Given the description of an element on the screen output the (x, y) to click on. 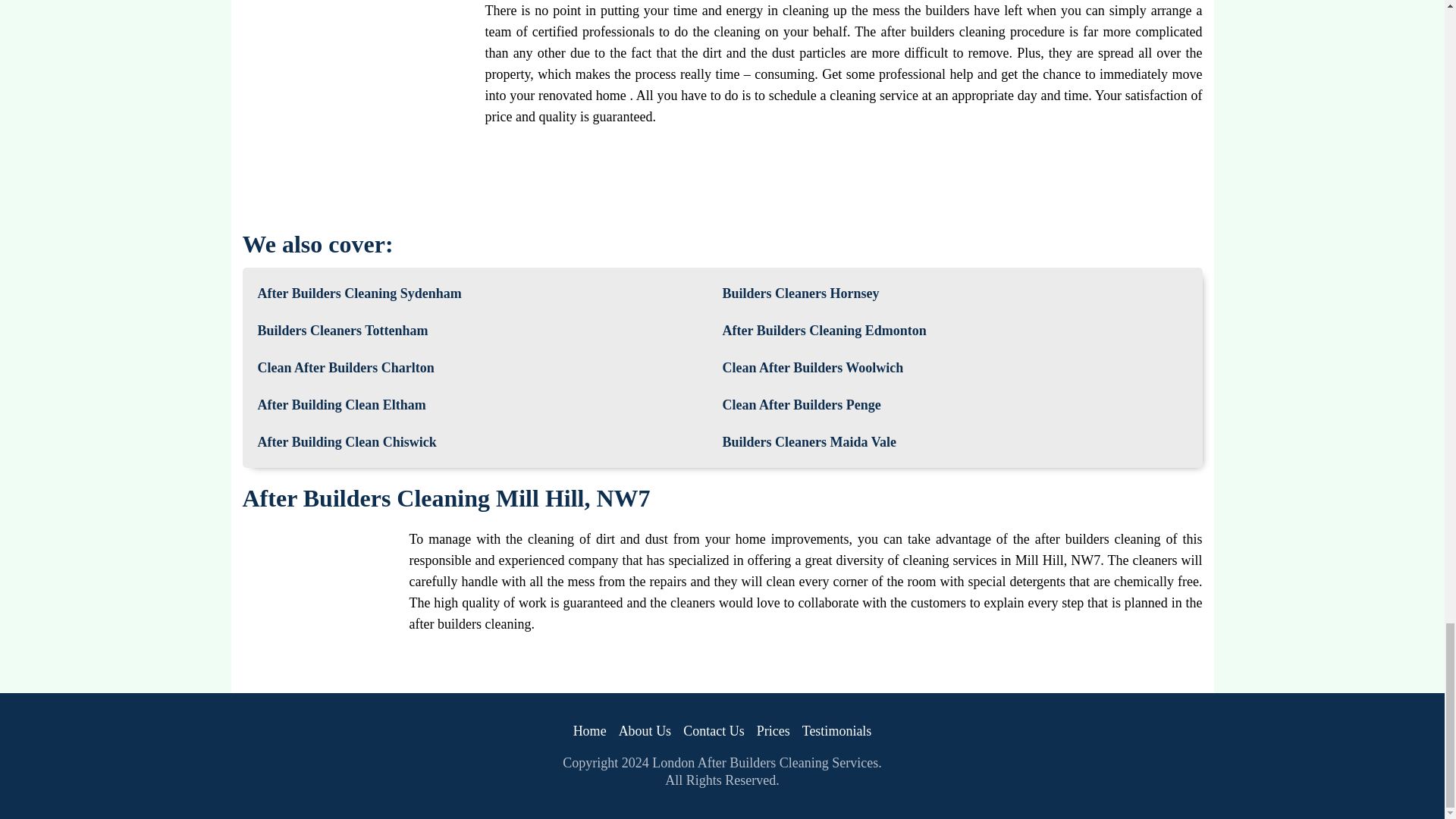
After Builders Cleaning Edmonton (824, 331)
W9 Builders Cleaners Maida Vale (809, 442)
Clean After Builders Woolwich (812, 368)
SE18 Clean After Builders Woolwich (812, 368)
Builders Cleaners Hornsey (800, 293)
W4 After Building Clean Chiswick (346, 442)
SE7 Clean After Builders Charlton (345, 368)
Clean After Builders Charlton (345, 368)
SE9 After Building Clean Eltham (341, 404)
After Builders Cleaning Sydenham (359, 293)
